Given the description of an element on the screen output the (x, y) to click on. 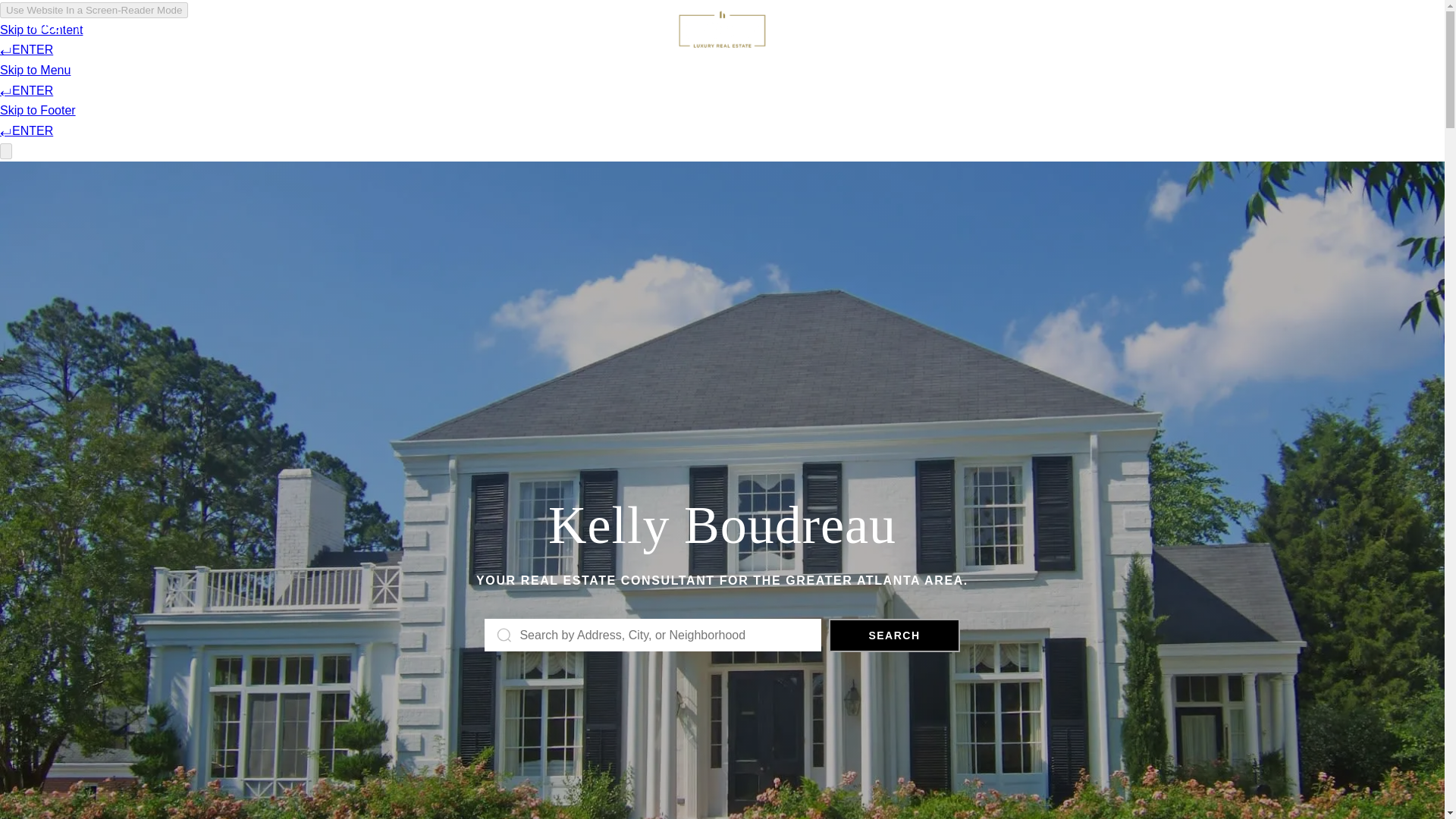
FEATURED PROPERTIES (249, 44)
MEET THE TEAM (89, 46)
SEARCH (893, 635)
LET'S CONNECT (1315, 37)
HOME SEARCH (1188, 40)
